Given the description of an element on the screen output the (x, y) to click on. 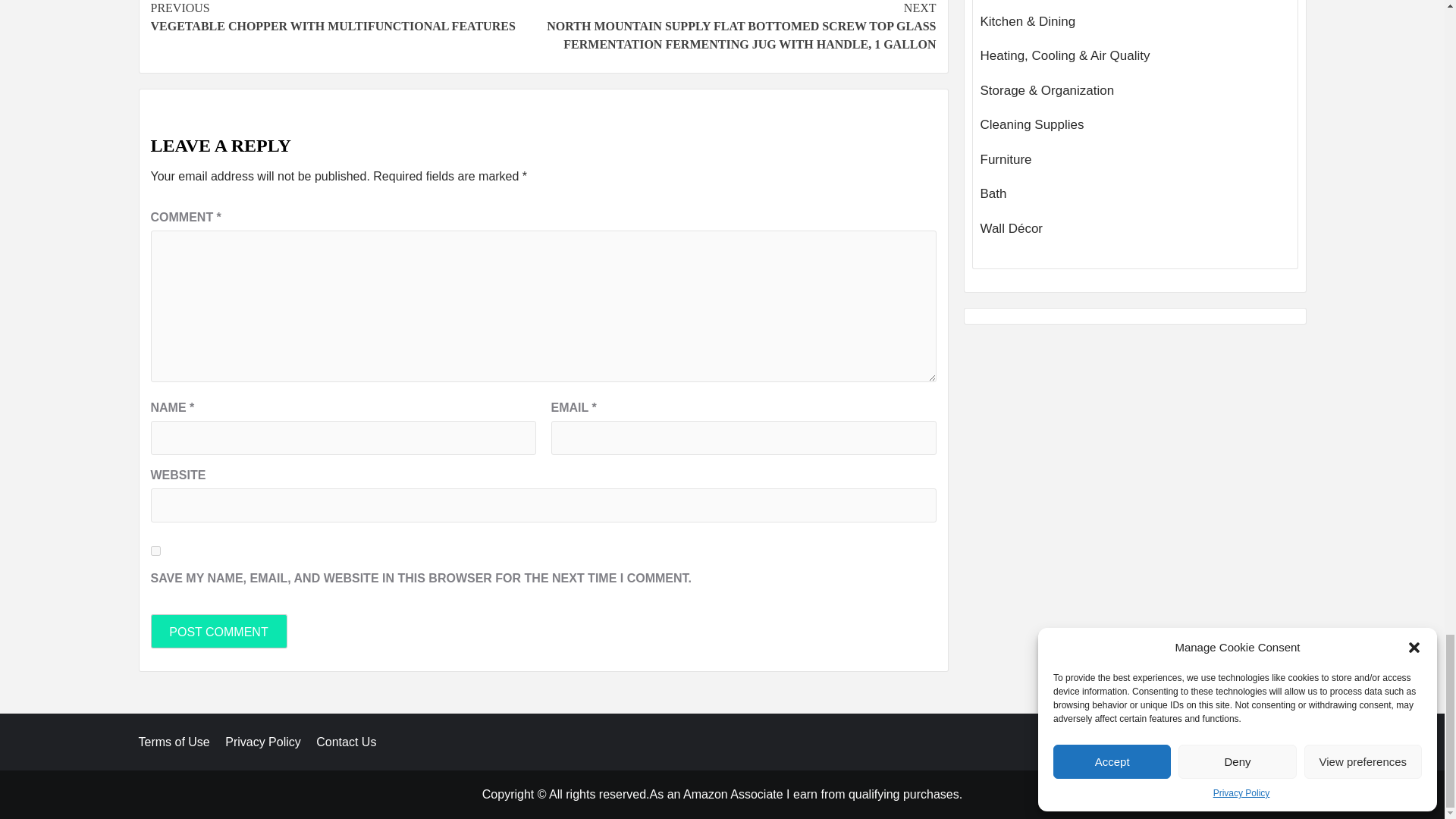
Post Comment (217, 631)
Post Comment (346, 17)
